Given the description of an element on the screen output the (x, y) to click on. 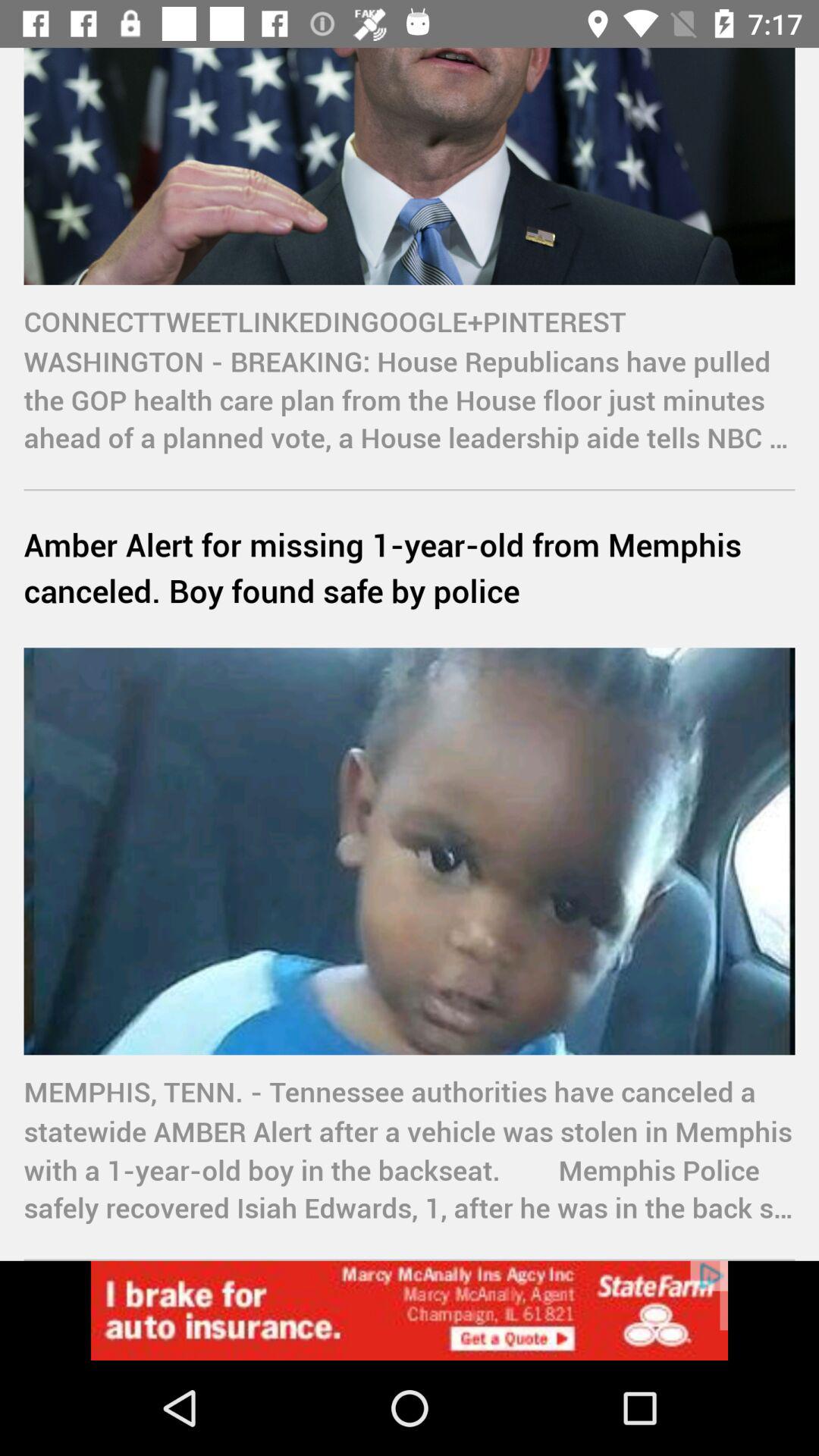
go to statefarm (409, 1310)
